Given the description of an element on the screen output the (x, y) to click on. 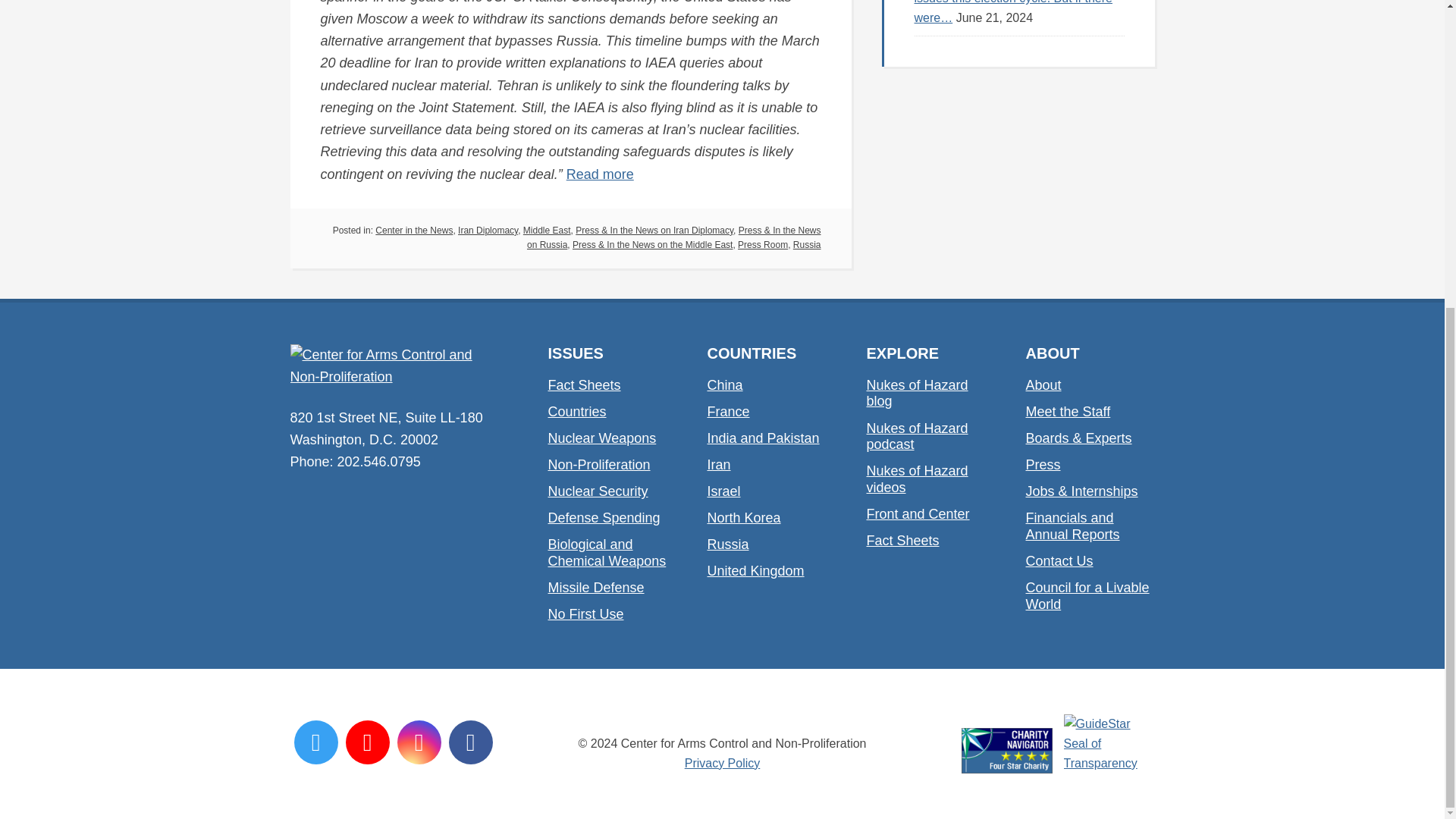
Read more (599, 174)
Middle East (546, 230)
Iran Diplomacy (488, 230)
Center in the News (413, 230)
